Given the description of an element on the screen output the (x, y) to click on. 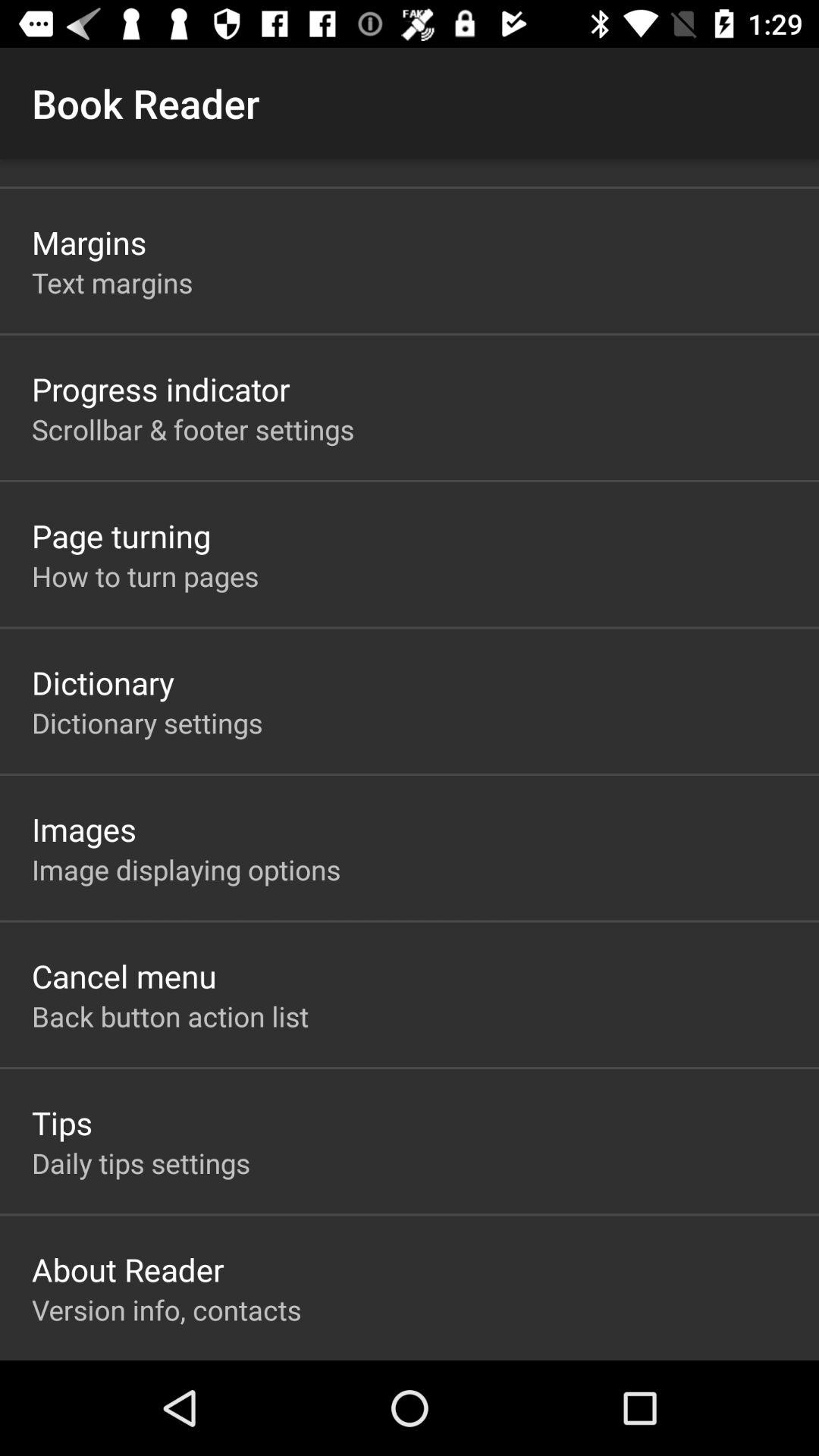
open the app below page turning item (144, 575)
